Given the description of an element on the screen output the (x, y) to click on. 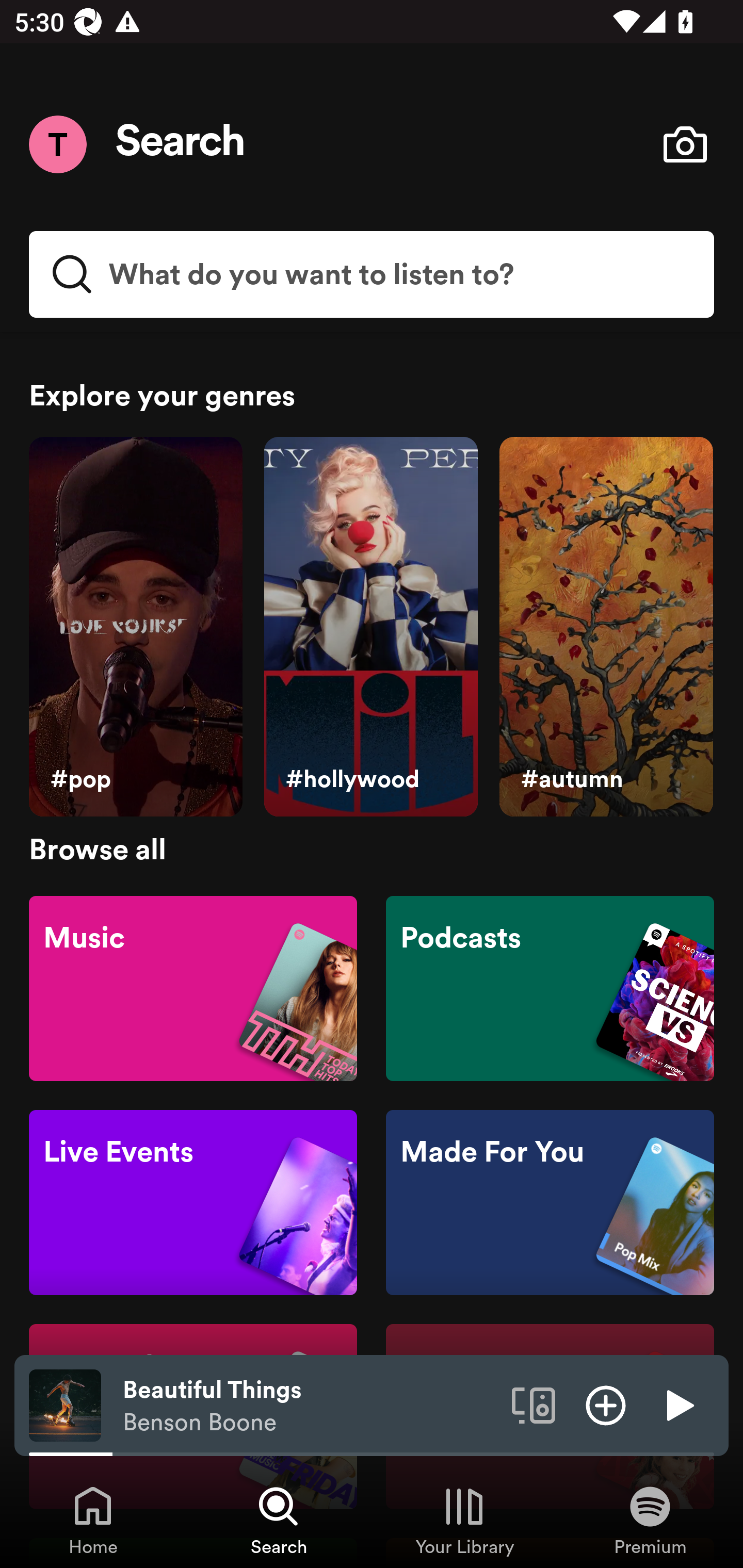
Menu (57, 144)
Open camera (685, 145)
Search (180, 144)
#pop (135, 626)
#hollywood (370, 626)
#autumn (606, 626)
Music (192, 987)
Podcasts (549, 987)
Live Events (192, 1202)
Made For You (549, 1202)
Beautiful Things Benson Boone (309, 1405)
The cover art of the currently playing track (64, 1404)
Connect to a device. Opens the devices menu (533, 1404)
Add item (605, 1404)
Play (677, 1404)
Home, Tab 1 of 4 Home Home (92, 1519)
Search, Tab 2 of 4 Search Search (278, 1519)
Your Library, Tab 3 of 4 Your Library Your Library (464, 1519)
Premium, Tab 4 of 4 Premium Premium (650, 1519)
